Given the description of an element on the screen output the (x, y) to click on. 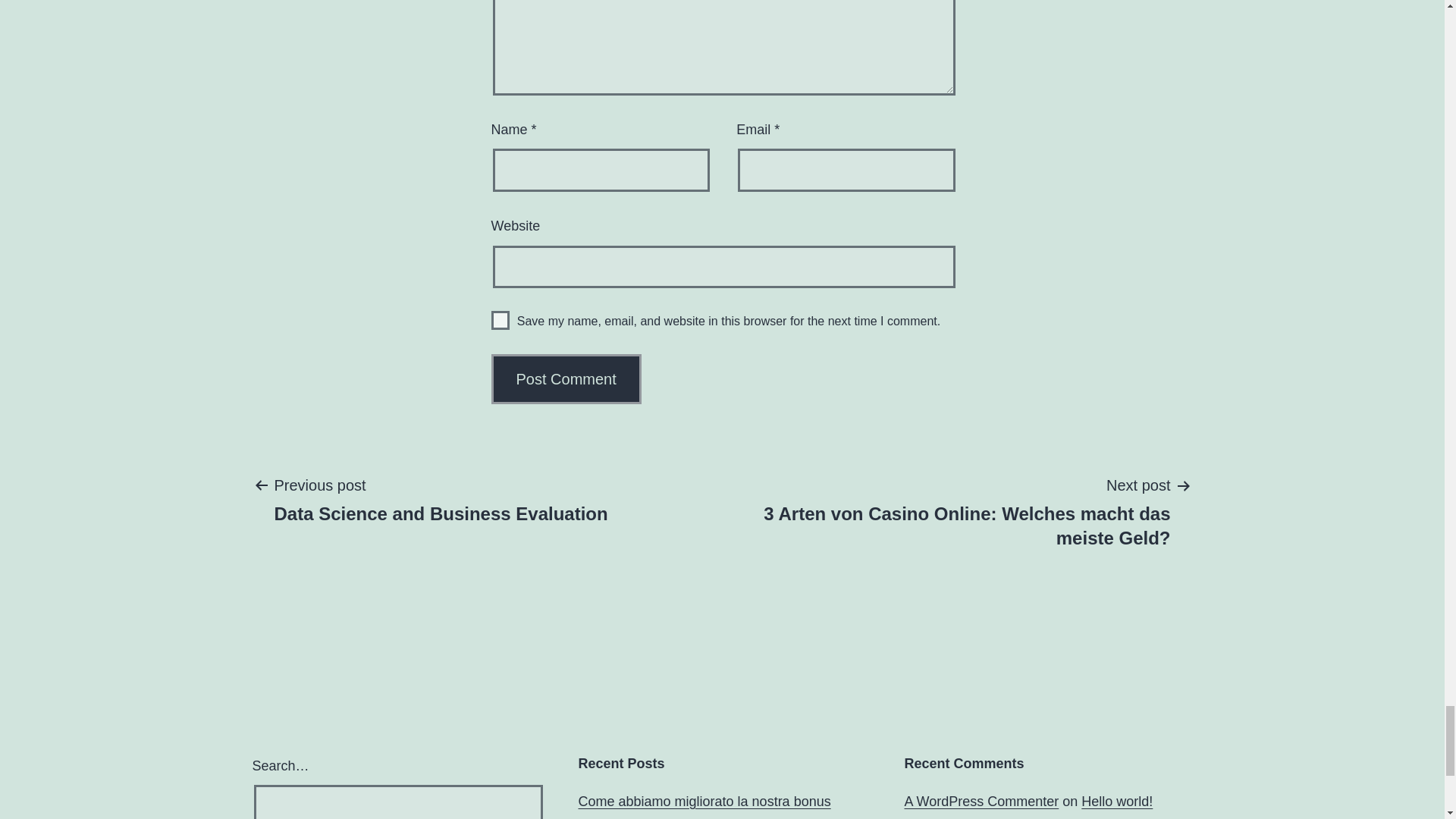
Post Comment (567, 378)
yes (500, 320)
Post Comment (567, 378)
Hello world! (1117, 801)
A WordPress Commenter (439, 498)
